Given the description of an element on the screen output the (x, y) to click on. 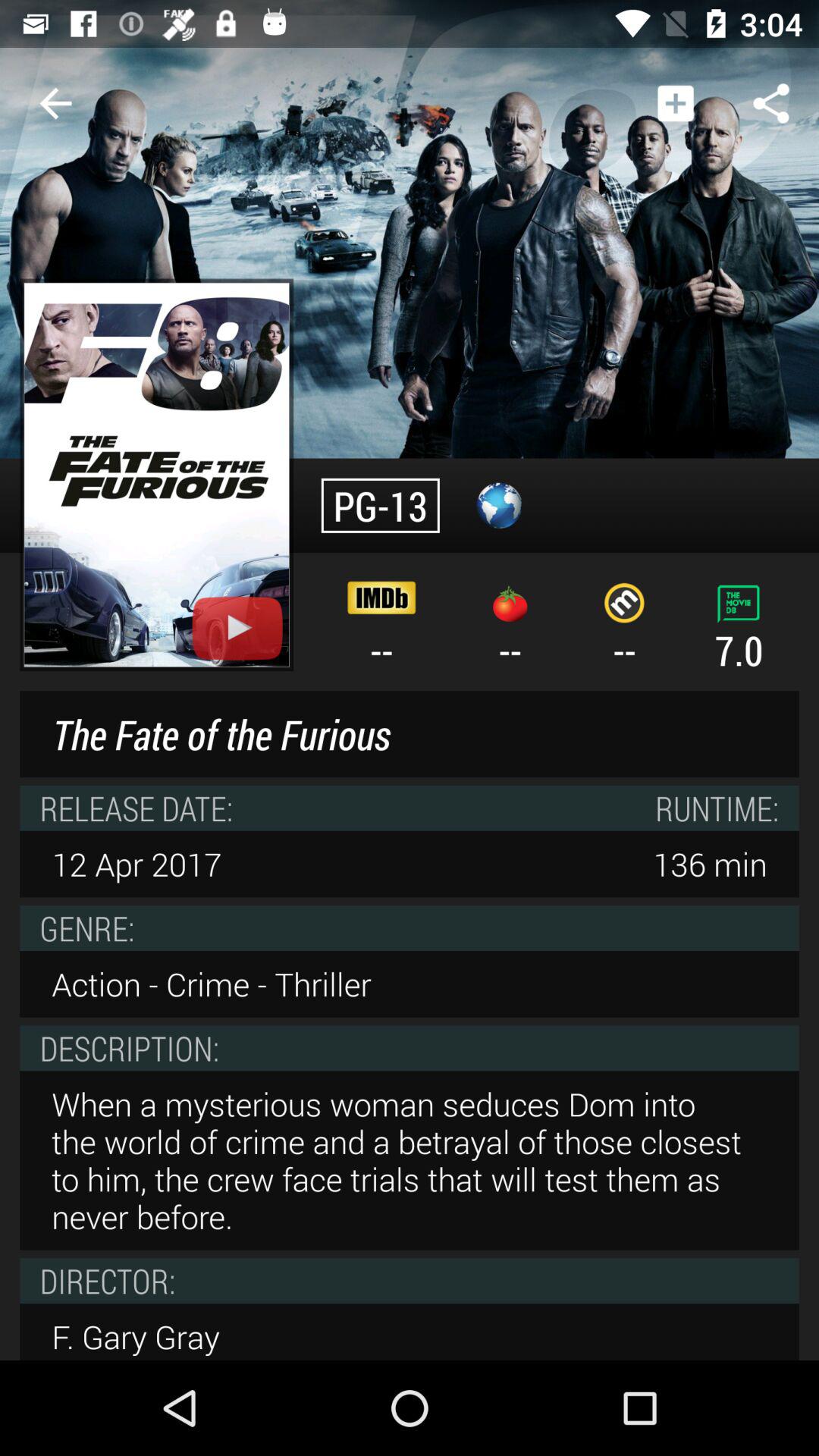
tap item above -- (675, 103)
